Given the description of an element on the screen output the (x, y) to click on. 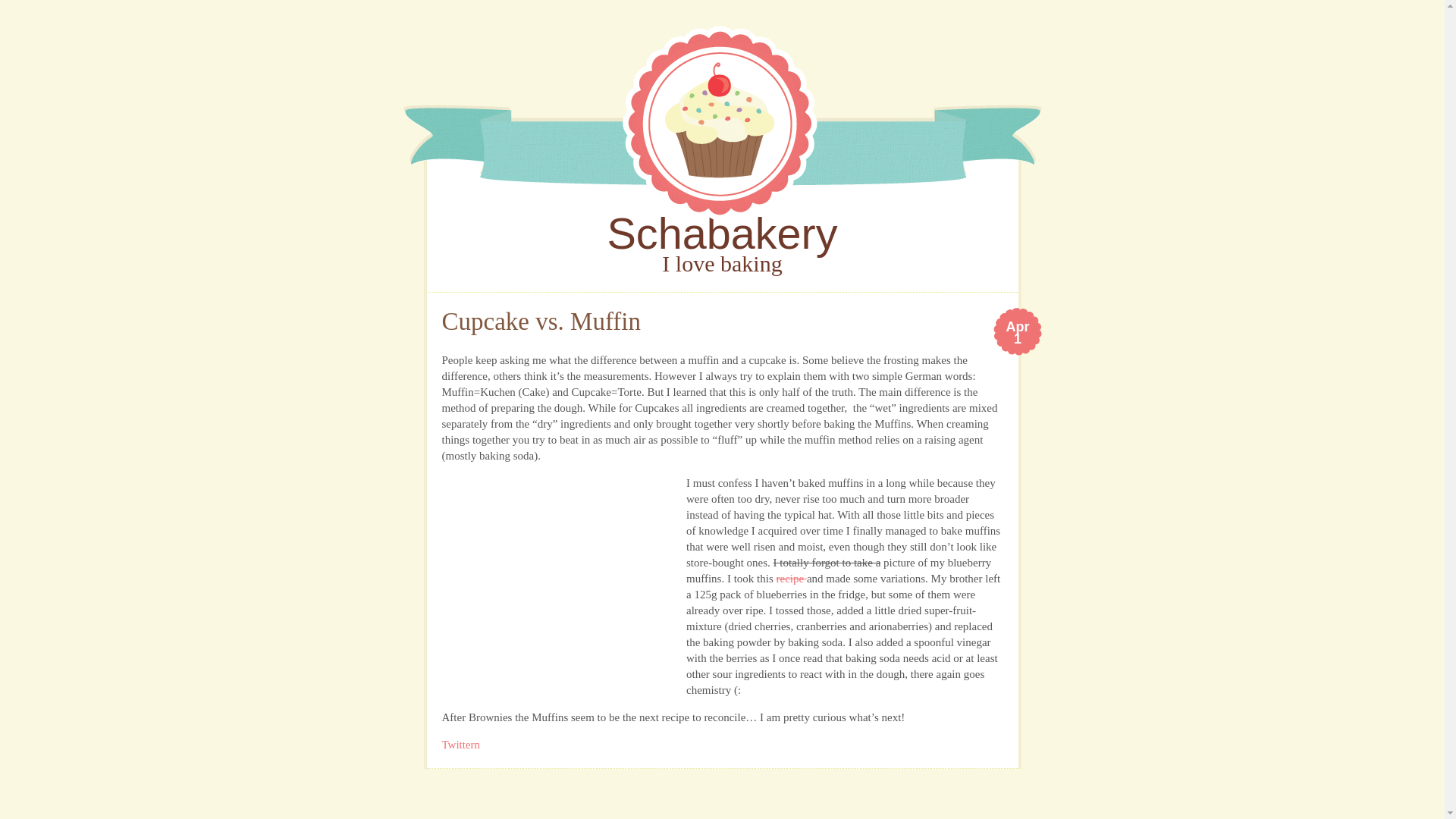
Schabakery (722, 233)
Twittern (460, 744)
Permanent Link toCupcake vs. Muffin (1017, 333)
Schabakery (722, 219)
recipe (1017, 333)
Schabakery (791, 578)
